Given the description of an element on the screen output the (x, y) to click on. 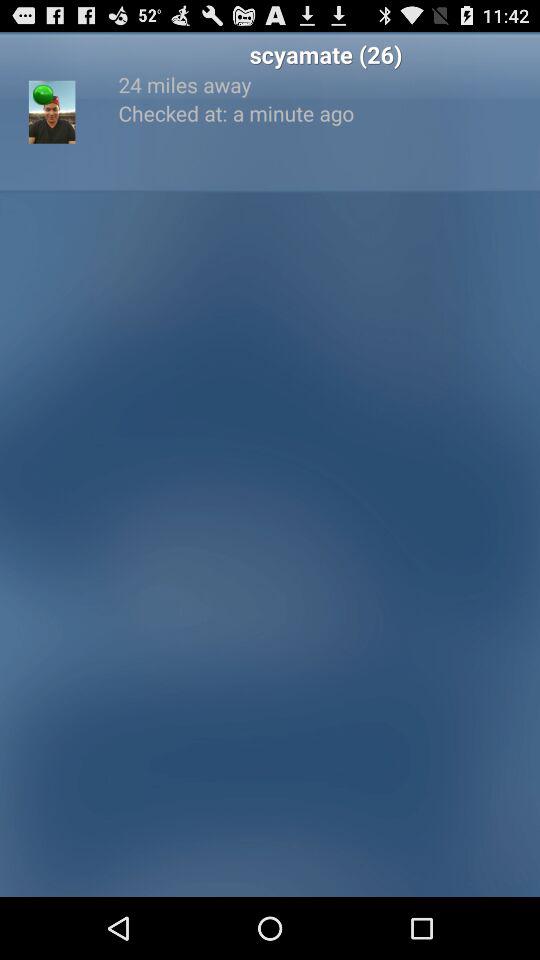
scroll until the 24 miles away (325, 84)
